Given the description of an element on the screen output the (x, y) to click on. 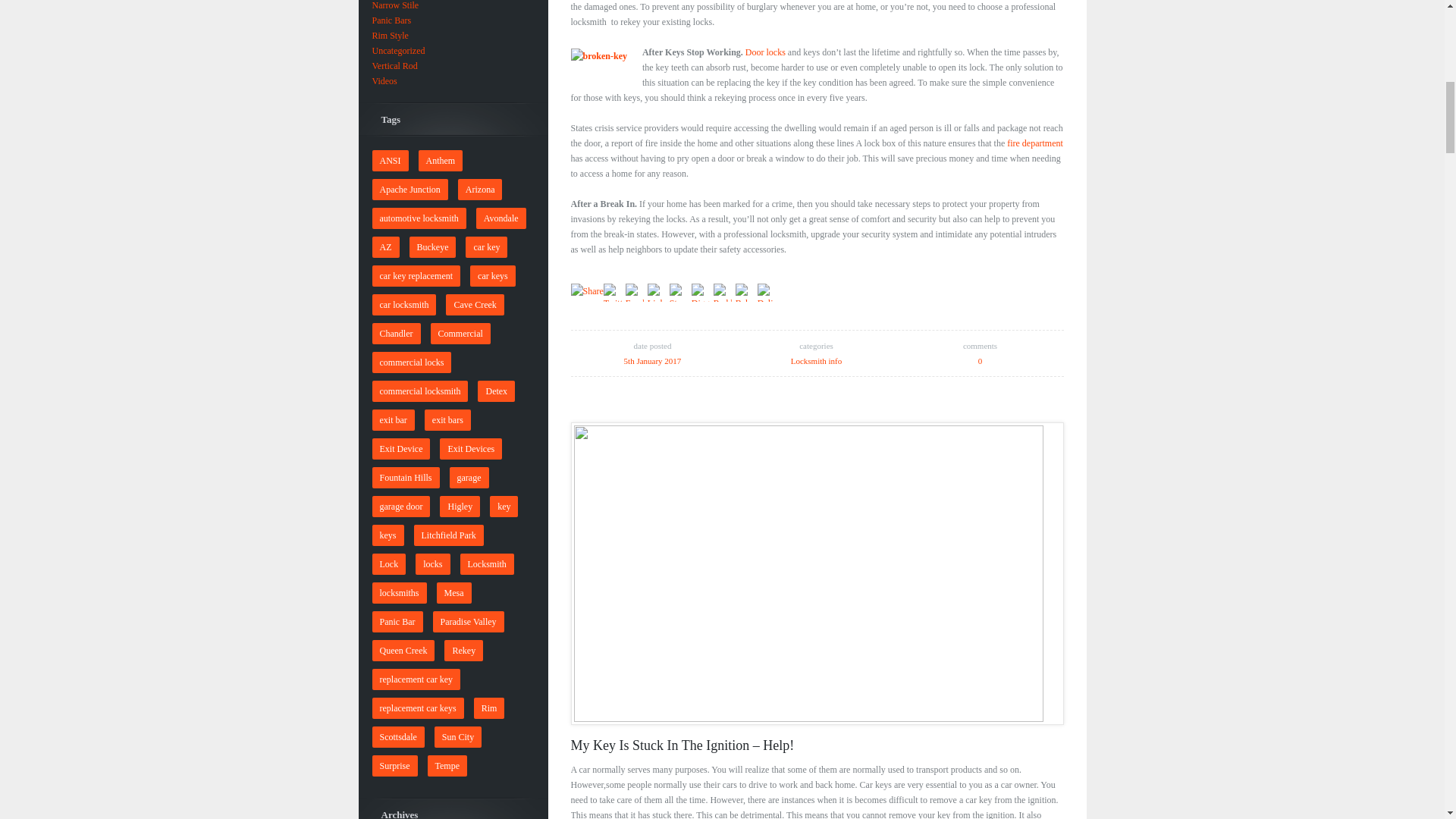
Digg (702, 291)
Facebook (636, 291)
Twitter (615, 291)
fire department (1034, 143)
Linkedin (658, 291)
Door locks (765, 51)
Bebo (746, 291)
Reddit (724, 291)
Locksmith info (816, 360)
5th January 2017 (652, 360)
StumbleUpon (680, 291)
Delicious (767, 291)
